Given the description of an element on the screen output the (x, y) to click on. 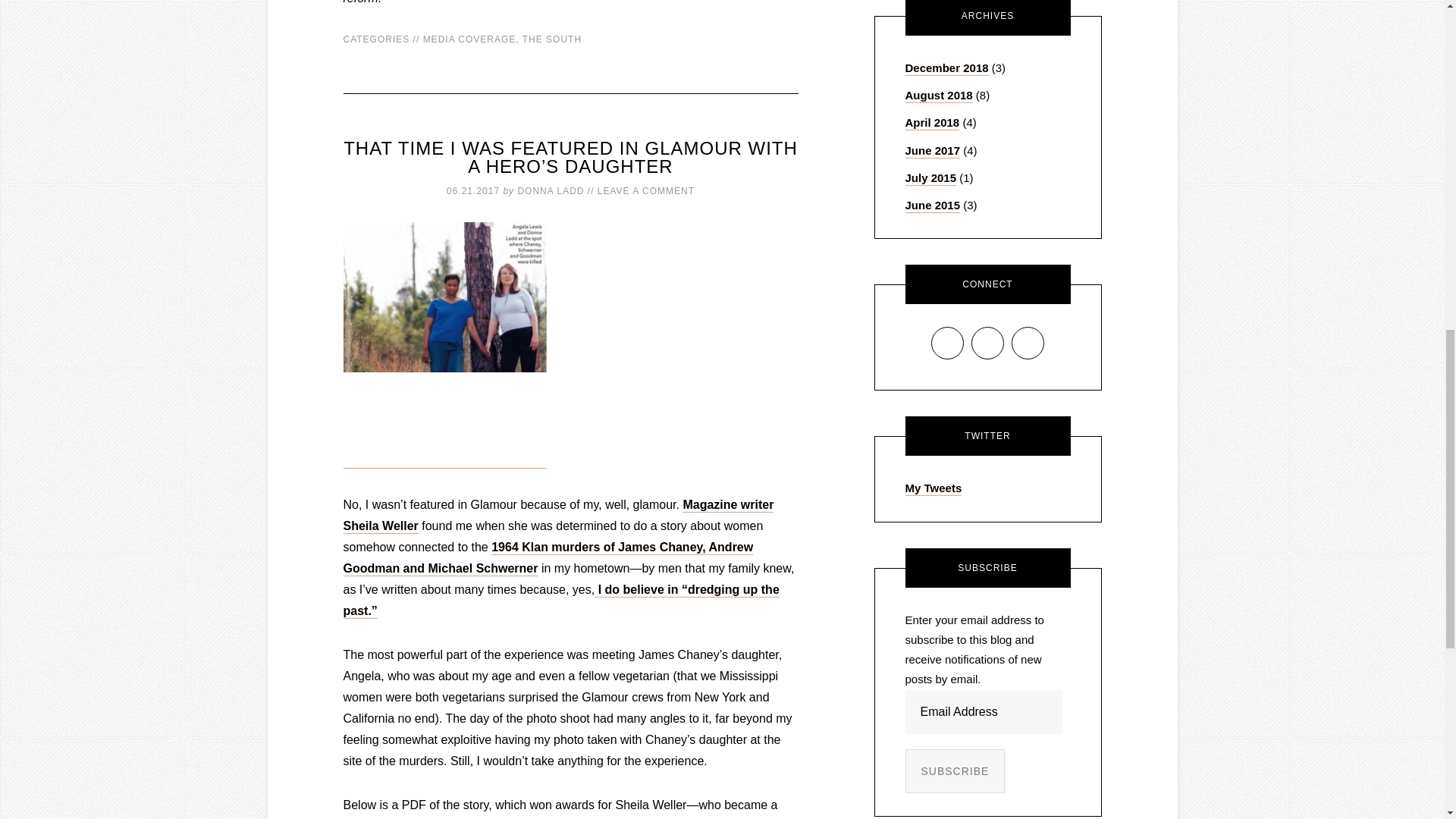
August 2018 (938, 95)
DONNA LADD (549, 190)
Linkedin (987, 342)
Facebook (947, 343)
MEDIA COVERAGE (469, 39)
Subscribe (955, 771)
Magazine writer Sheila Weller (557, 515)
June 2015 (932, 205)
Twitter (1027, 343)
July 2015 (930, 178)
December 2018 (946, 68)
Facebook (947, 342)
LEAVE A COMMENT (645, 190)
June 2017 (932, 151)
